Given the description of an element on the screen output the (x, y) to click on. 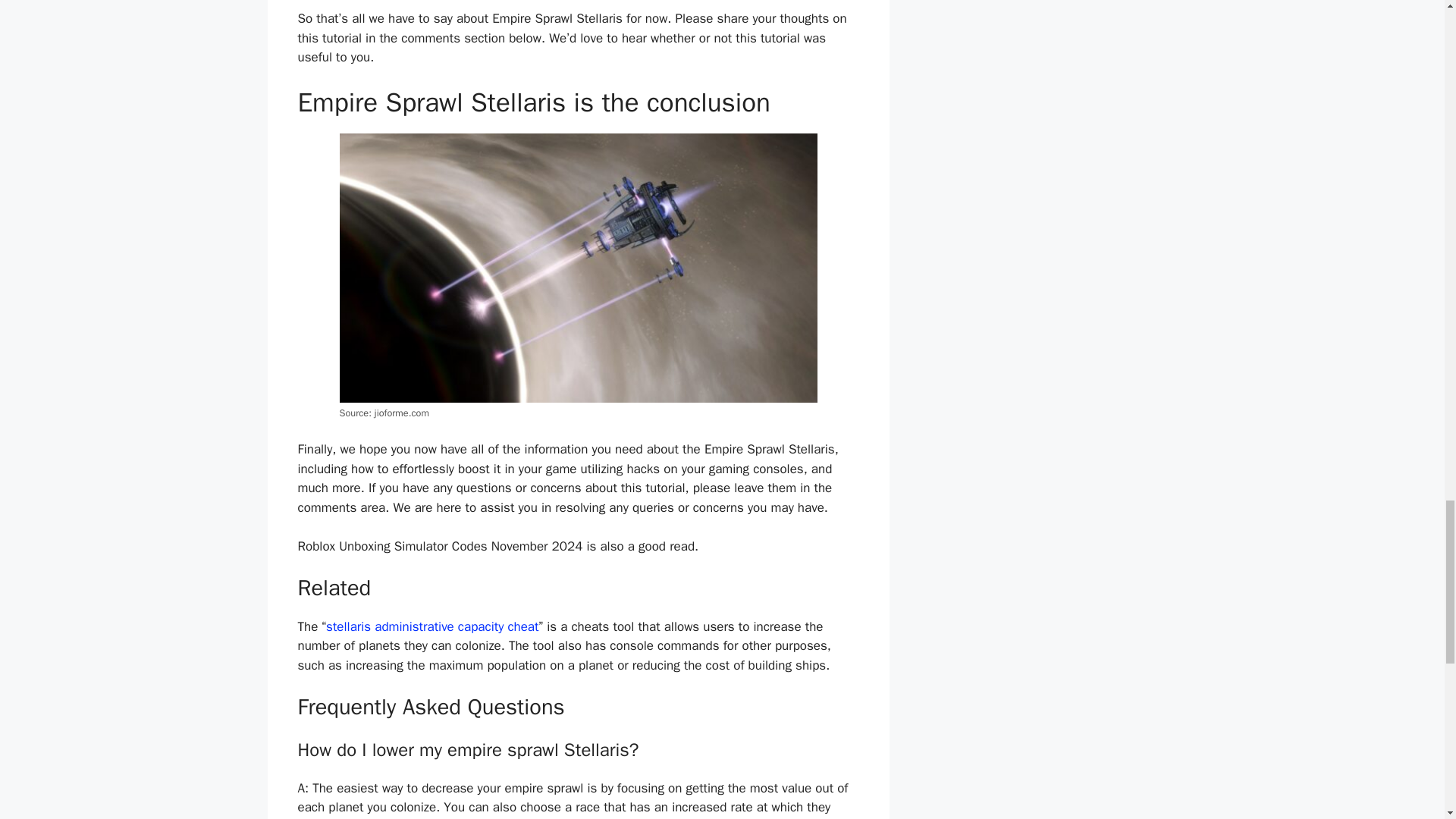
stellaris administrative capacity cheat (432, 626)
